Given the description of an element on the screen output the (x, y) to click on. 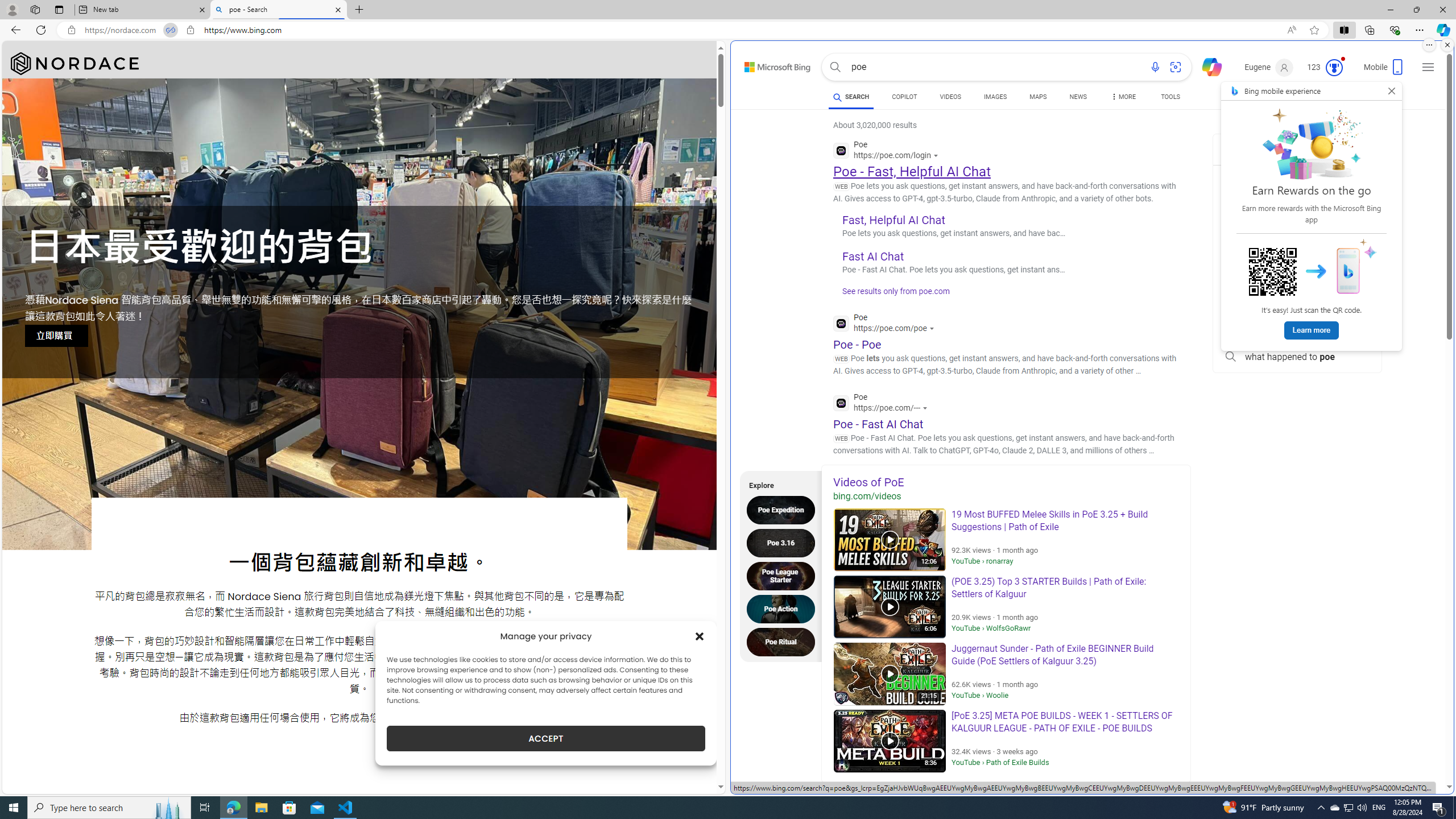
NEWS (1078, 96)
IMAGES (995, 98)
Poe - Poe (856, 344)
Global web icon (841, 402)
TOOLS (1171, 96)
poe official website (1297, 177)
